Given the description of an element on the screen output the (x, y) to click on. 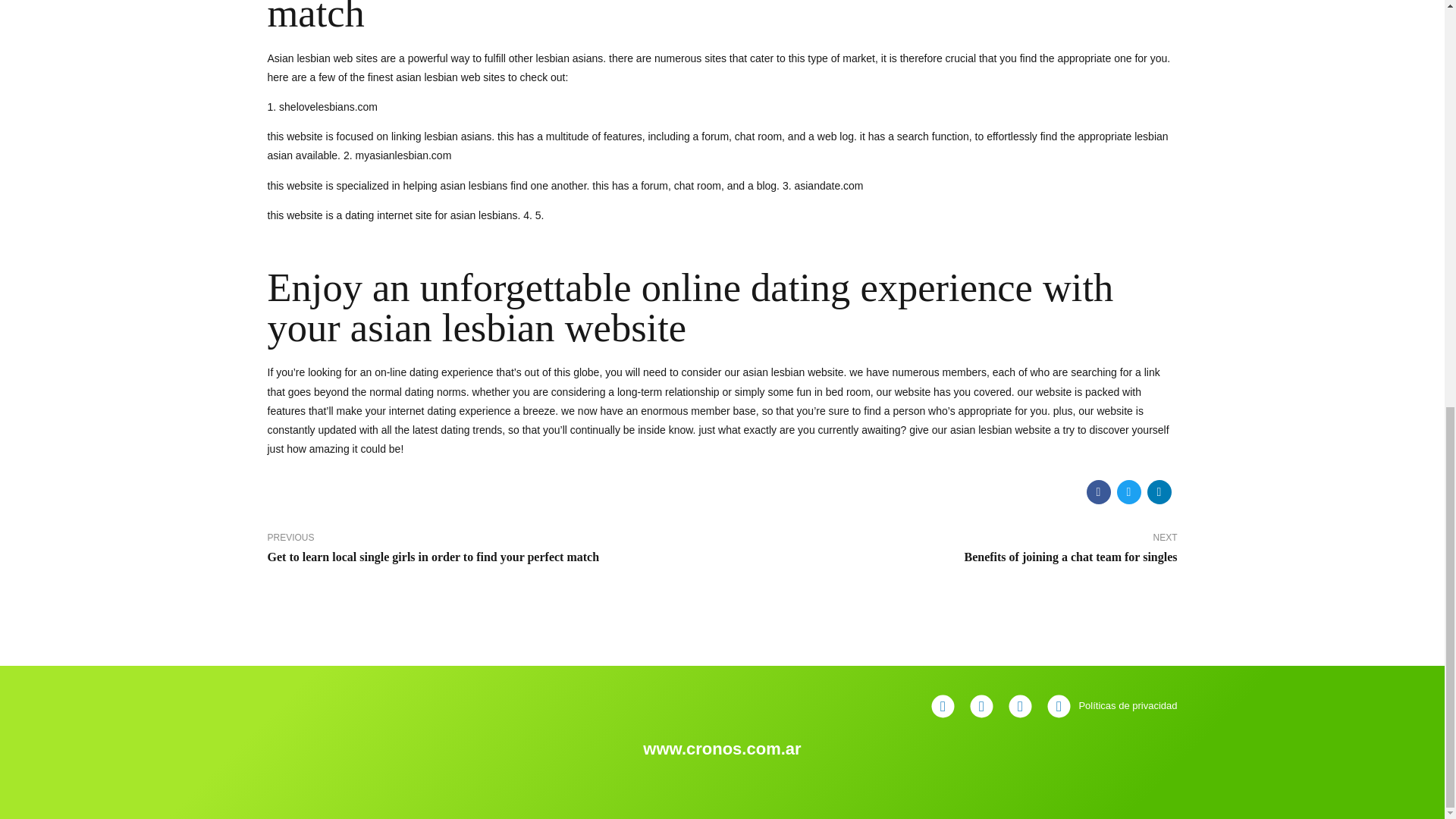
www.cronos.com.ar (721, 750)
